Given the description of an element on the screen output the (x, y) to click on. 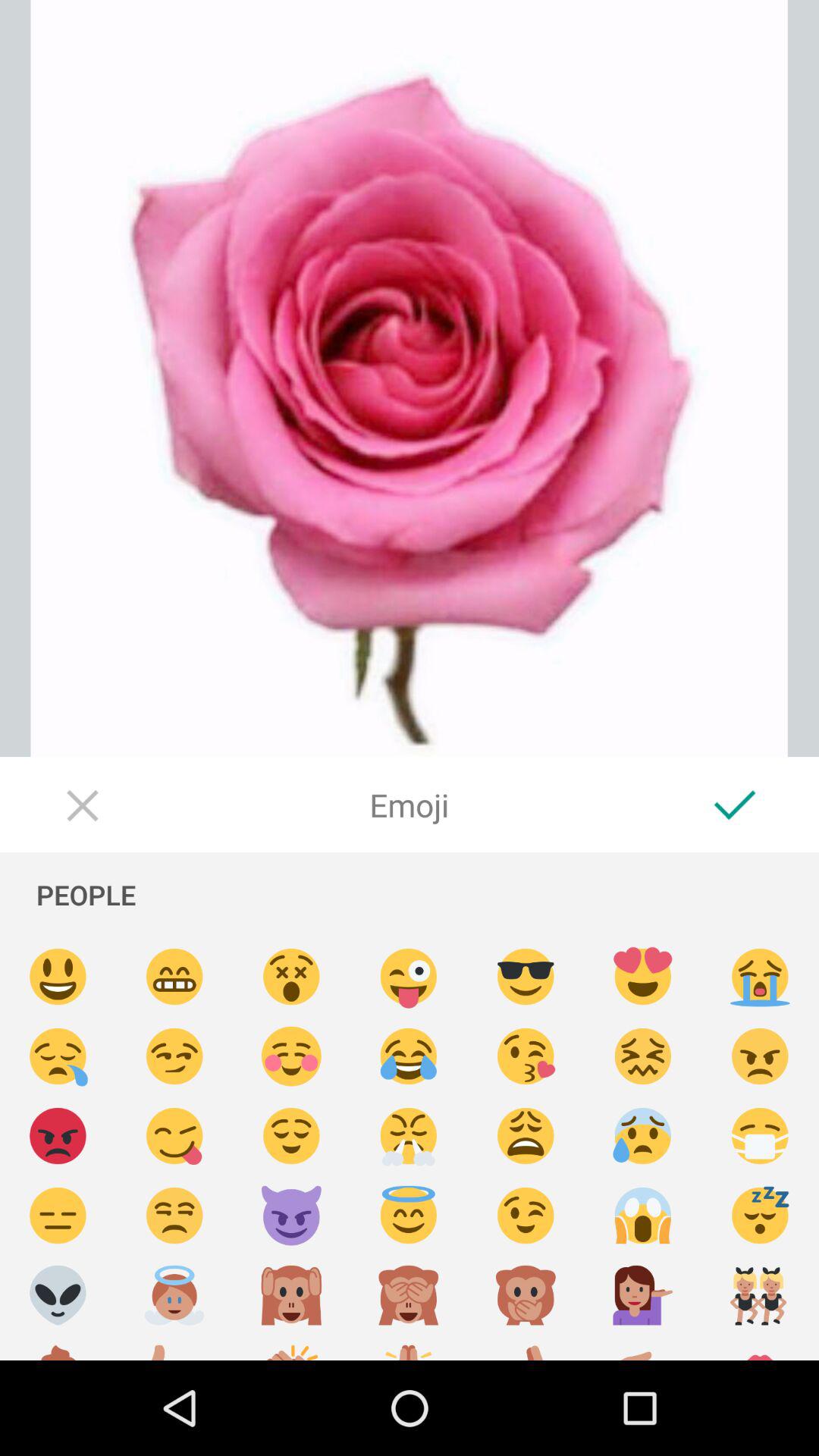
emoji (174, 1215)
